Given the description of an element on the screen output the (x, y) to click on. 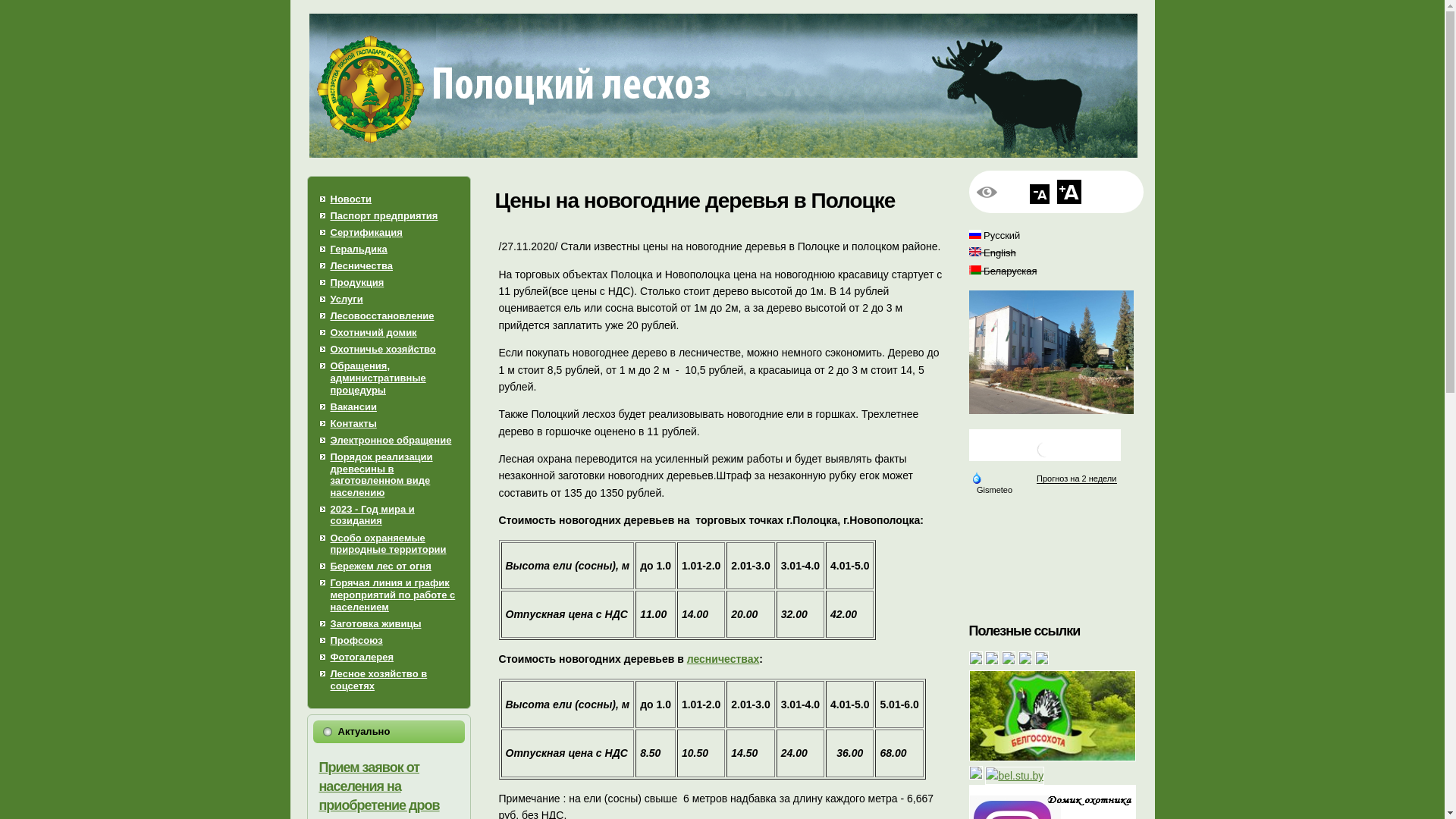
A Element type: text (1069, 191)
English Element type: hover (975, 251)
A Element type: text (1039, 193)
